Given the description of an element on the screen output the (x, y) to click on. 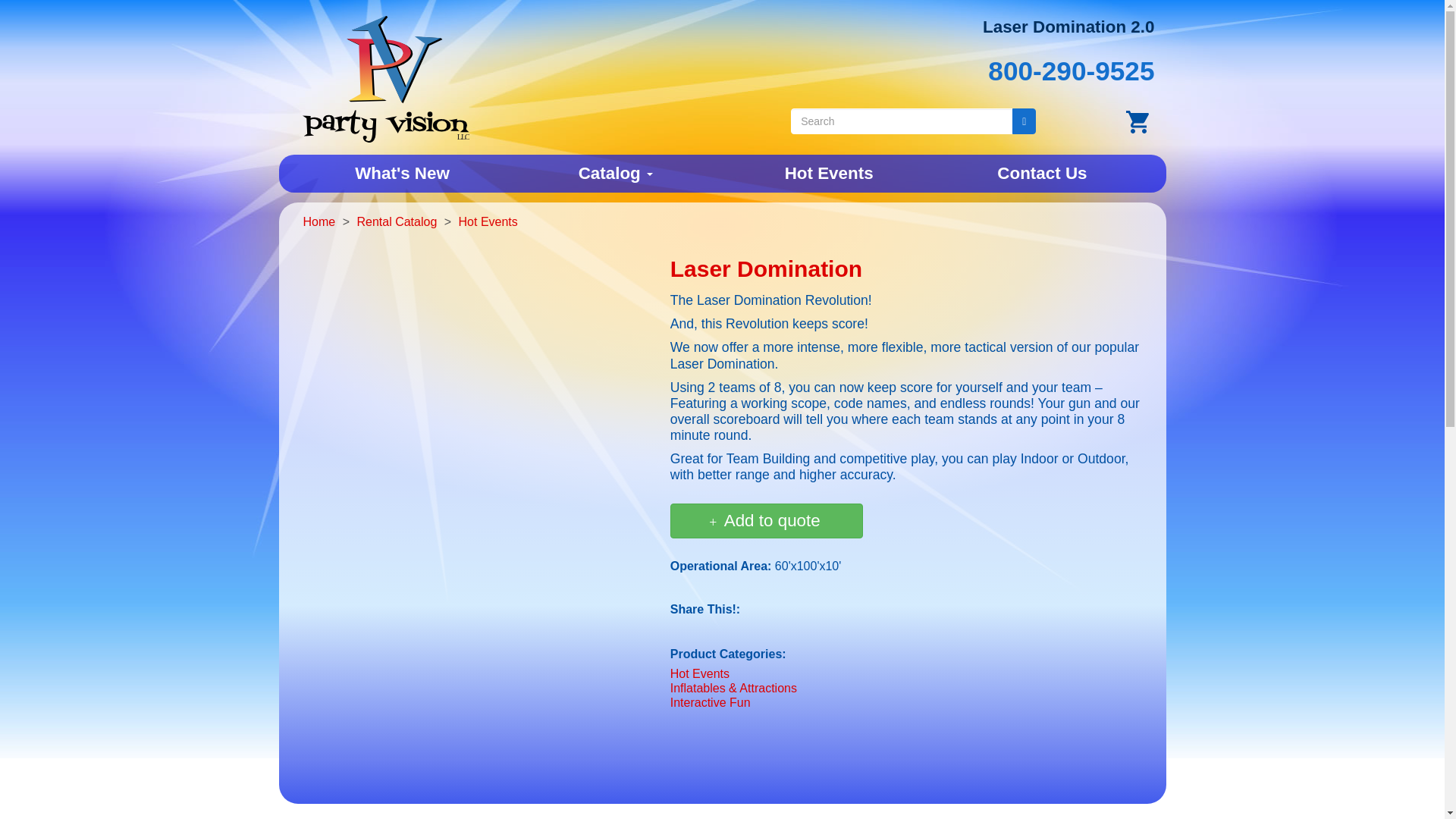
What's New (401, 173)
